Given the description of an element on the screen output the (x, y) to click on. 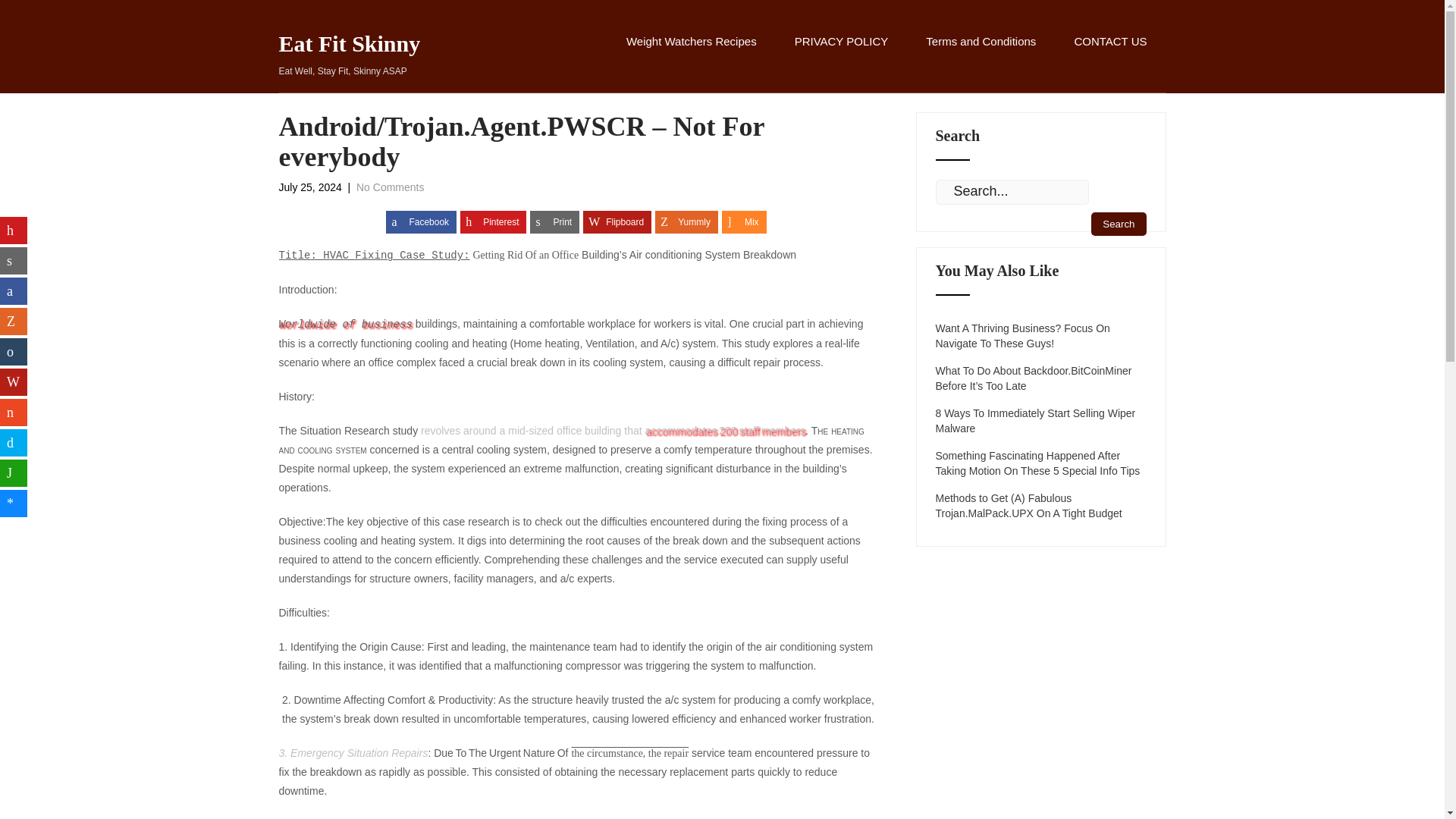
Facebook (421, 221)
CONTACT US (1110, 57)
Search (1117, 223)
Want A Thriving Business? Focus On Navigate To These Guys! (1041, 336)
8 Ways To Immediately Start Selling Wiper Malware (1041, 420)
Weight Watchers Recipes (691, 57)
Mix (744, 221)
Terms and Conditions (980, 57)
No Comments (389, 186)
Print (554, 221)
